Given the description of an element on the screen output the (x, y) to click on. 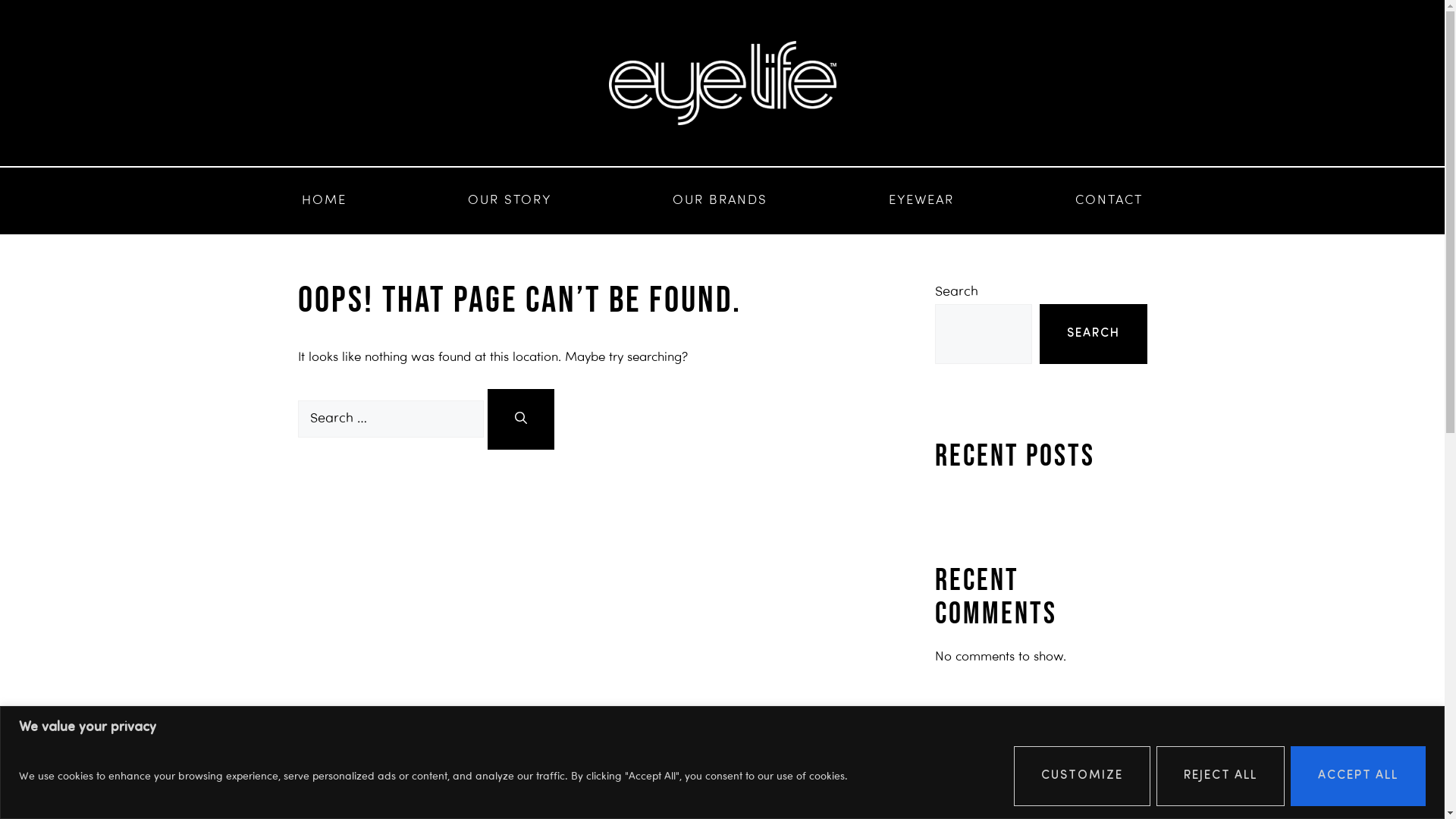
CUSTOMIZE Element type: text (1081, 775)
SEARCH Element type: text (1092, 333)
REJECT ALL Element type: text (1220, 775)
CONTACT Element type: text (1108, 200)
EYEWEAR Element type: text (920, 200)
HOME Element type: text (323, 200)
OUR BRANDS Element type: text (719, 200)
OUR STORY Element type: text (509, 200)
ACCEPT ALL Element type: text (1357, 775)
Search for: Element type: hover (390, 418)
